Given the description of an element on the screen output the (x, y) to click on. 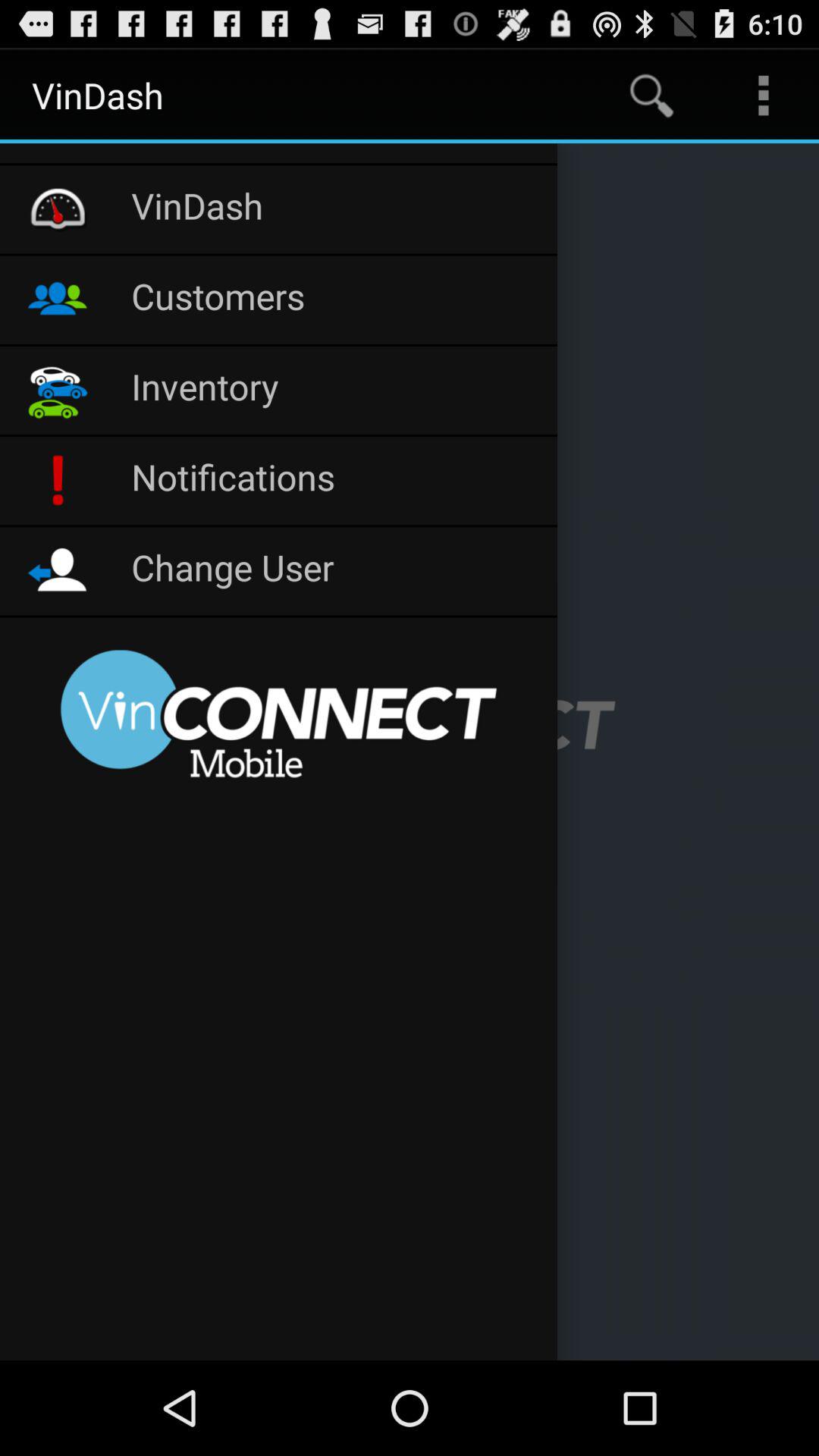
click change user icon (336, 570)
